Given the description of an element on the screen output the (x, y) to click on. 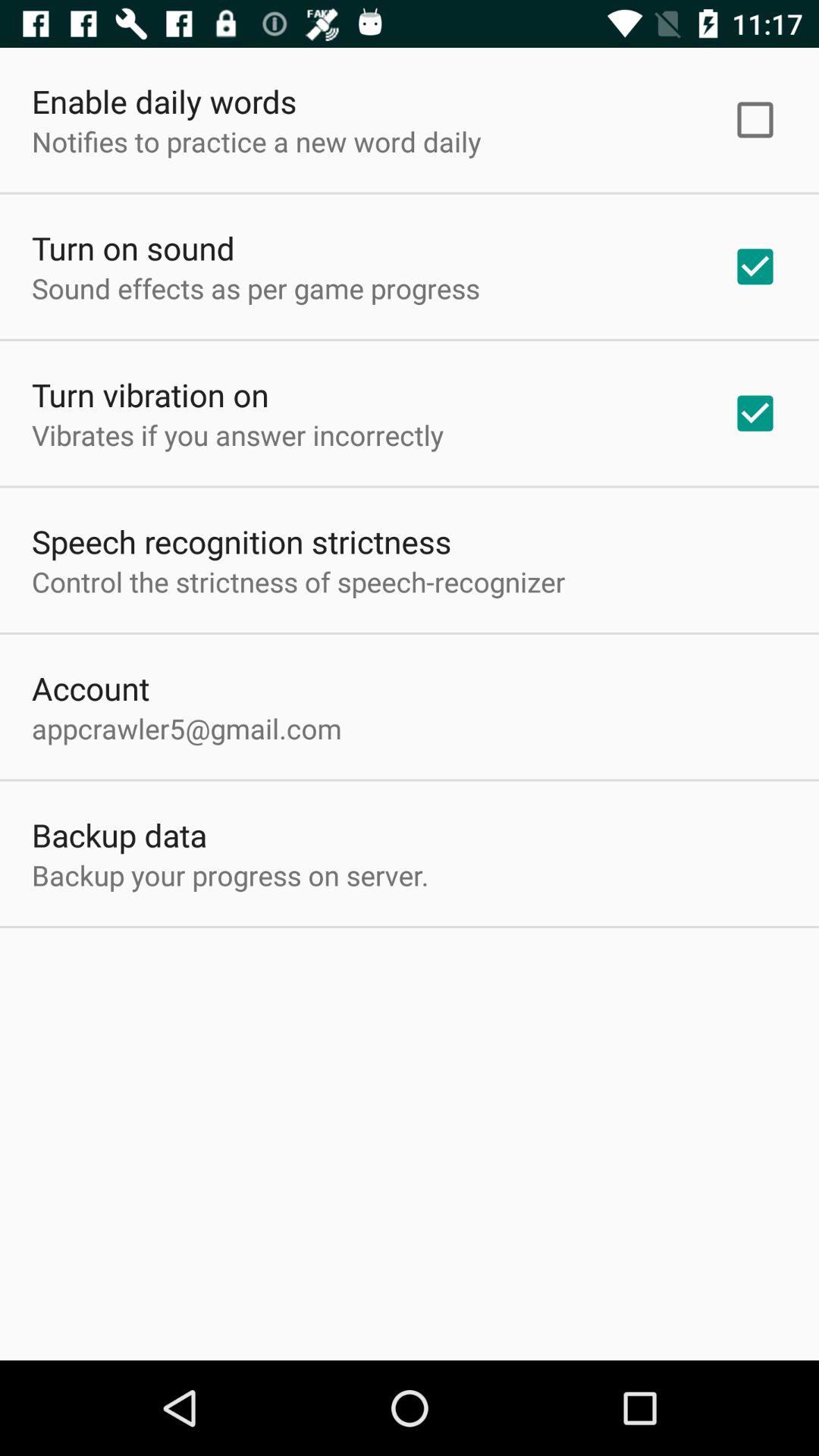
press app below backup data item (229, 875)
